Given the description of an element on the screen output the (x, y) to click on. 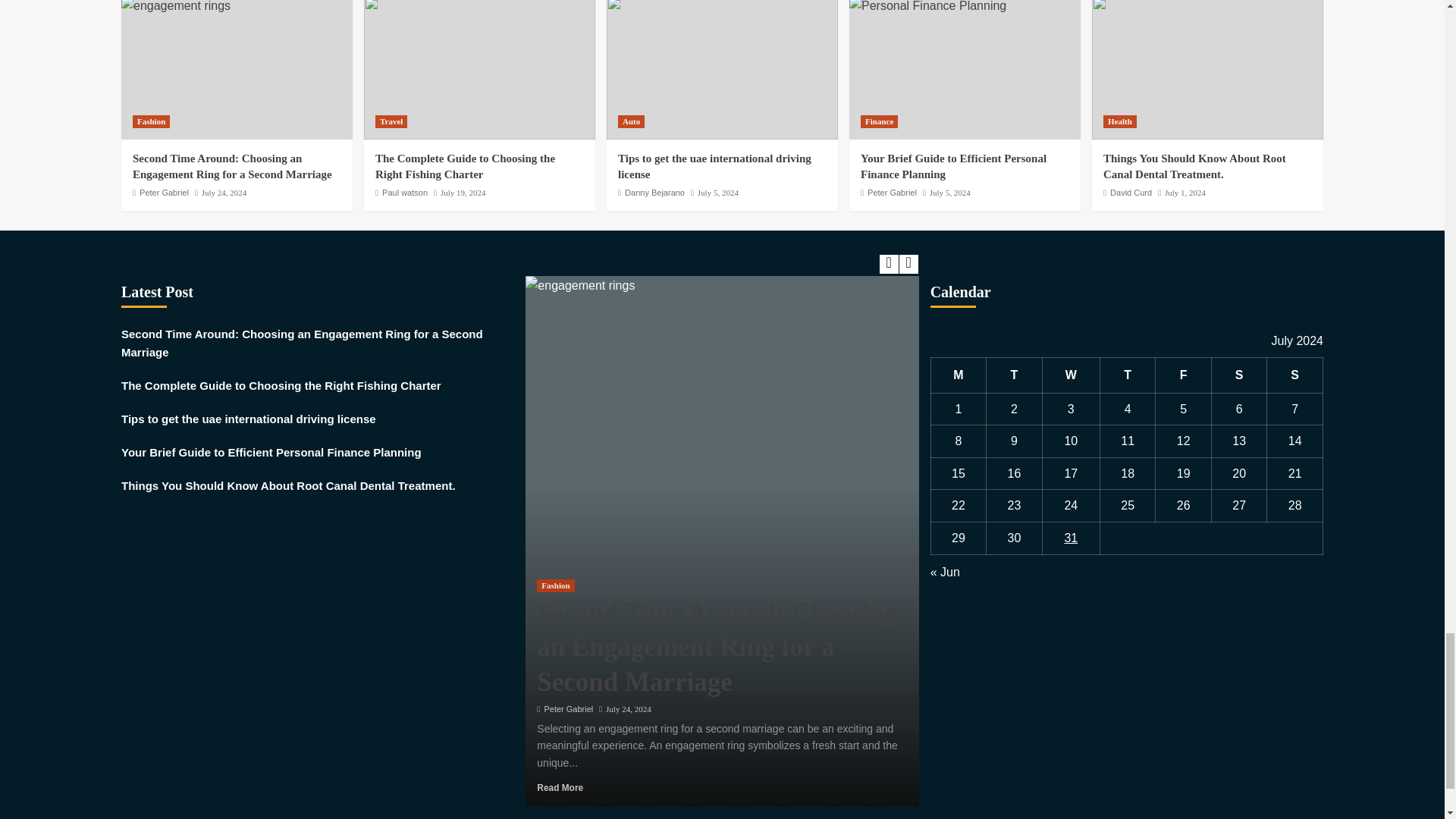
Monday (958, 375)
Friday (1183, 375)
Tuesday (1014, 375)
Thursday (1127, 375)
Saturday (1238, 375)
Wednesday (1070, 375)
Sunday (1294, 375)
